Given the description of an element on the screen output the (x, y) to click on. 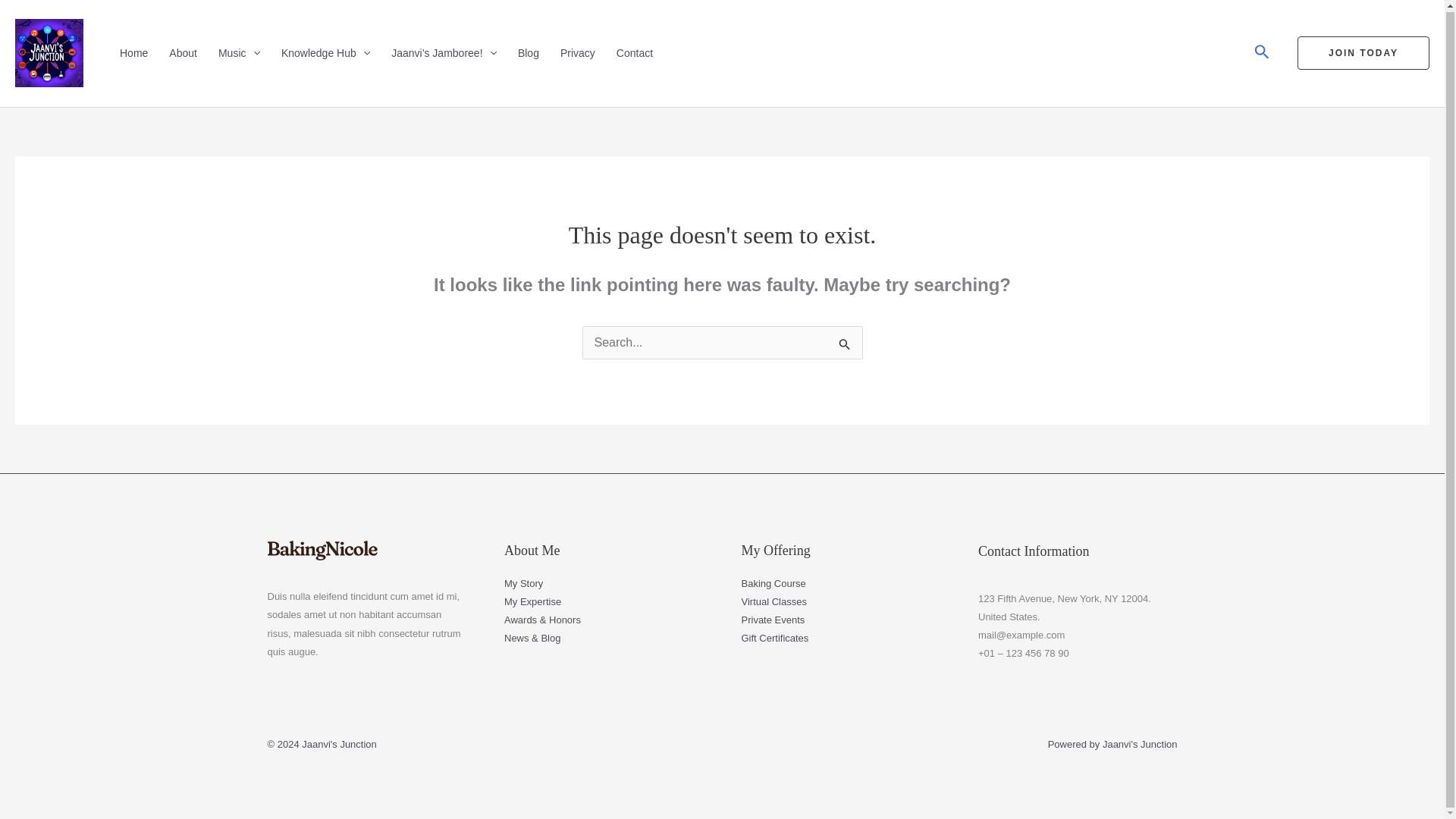
Search (844, 344)
Knowledge Hub (326, 52)
Search (844, 344)
Home (135, 52)
Music (240, 52)
About (184, 52)
